Given the description of an element on the screen output the (x, y) to click on. 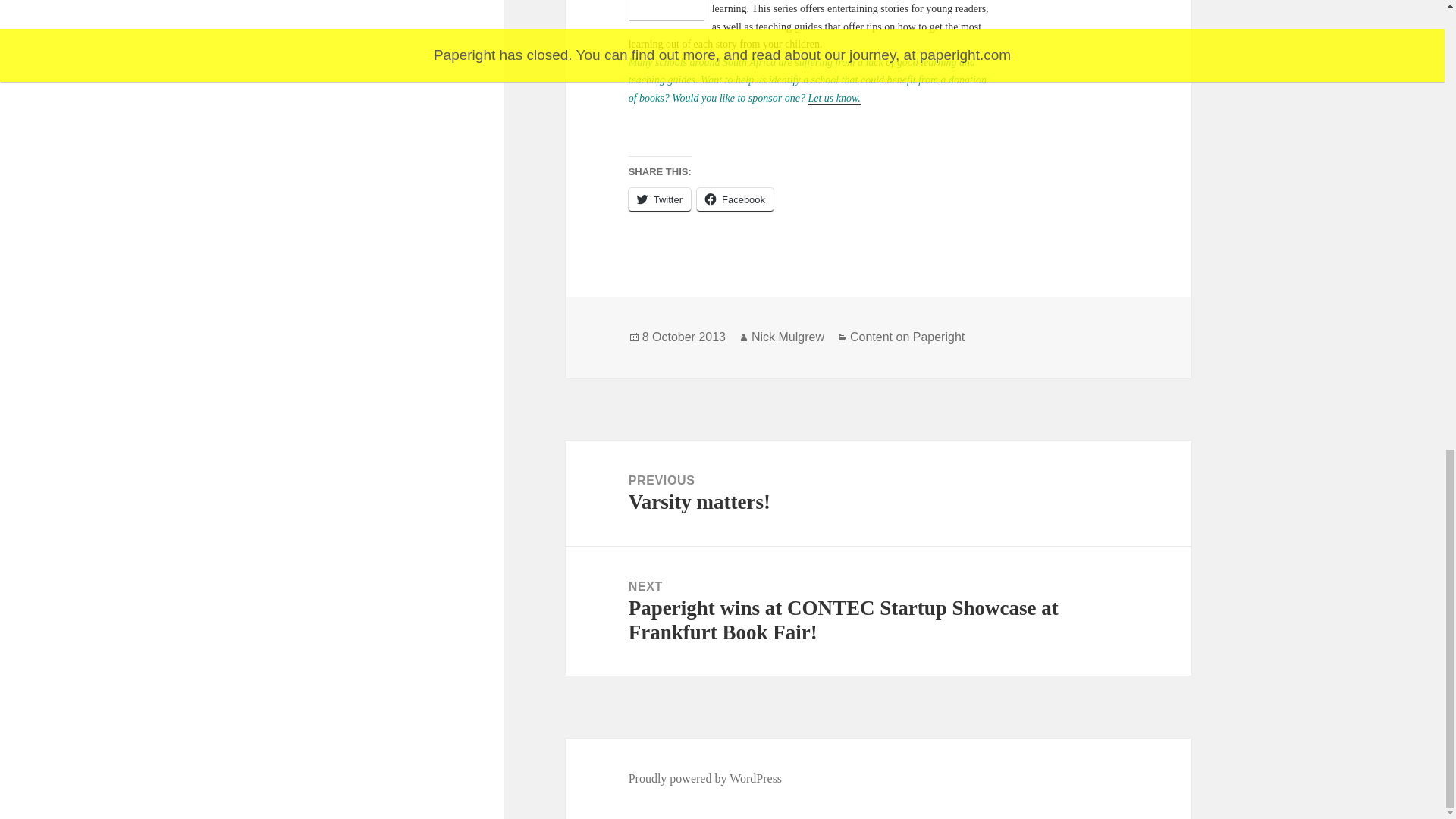
Facebook (735, 199)
Let us know. (834, 98)
Click to share on Twitter (659, 199)
Click to share on Facebook (735, 199)
Twitter (659, 199)
